Given the description of an element on the screen output the (x, y) to click on. 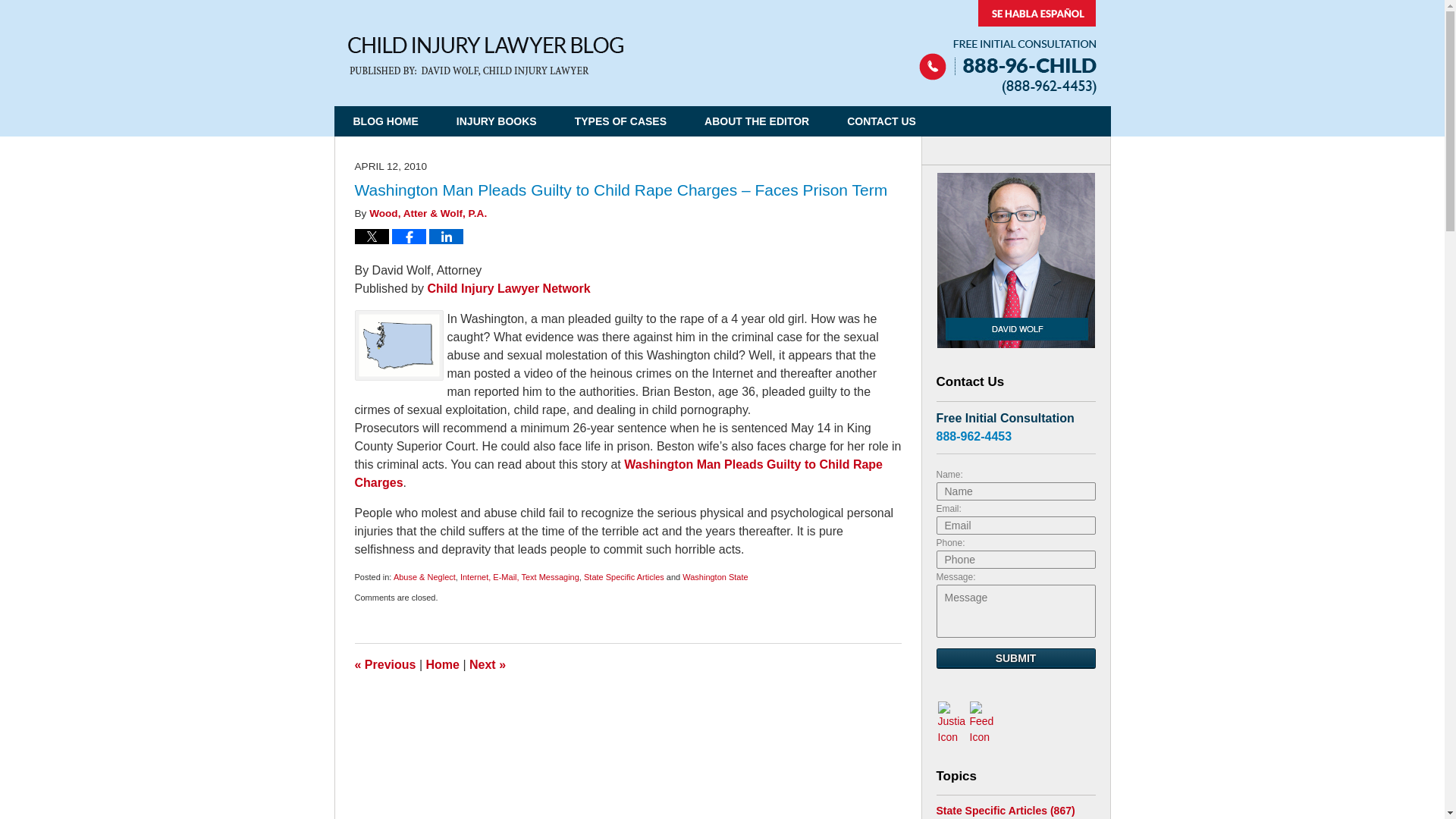
ABOUT THE EDITOR (756, 121)
Internet, E-Mail, Text Messaging (519, 576)
Washington State (715, 576)
Washington Man Pleads Guilty to Child Rape Charges (619, 472)
CONTACT US (881, 121)
TYPES OF CASES (620, 121)
Published By Child Injury Lawyer Network (1007, 47)
INJURY BOOKS (497, 121)
SUBMIT (1015, 657)
View all posts in Washington State (715, 576)
BLOG HOME (384, 121)
Child Injury Lawyer Blog (485, 56)
Child Injury Lawyer Network (509, 287)
Home (443, 664)
View all posts in Internet, E-Mail, Text Messaging (519, 576)
